Given the description of an element on the screen output the (x, y) to click on. 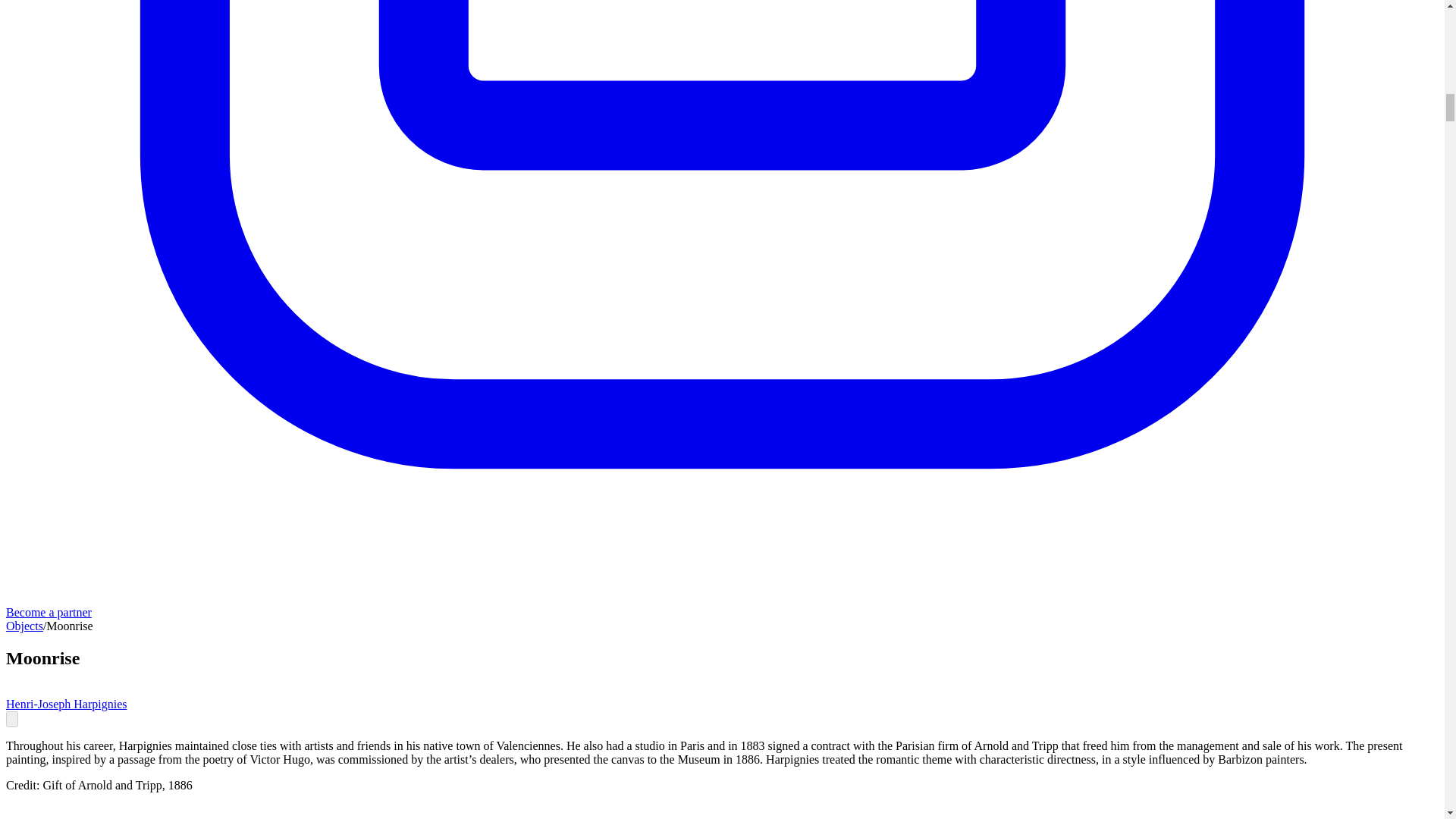
Henri-Joseph Harpignies (66, 703)
Objects (24, 625)
